Given the description of an element on the screen output the (x, y) to click on. 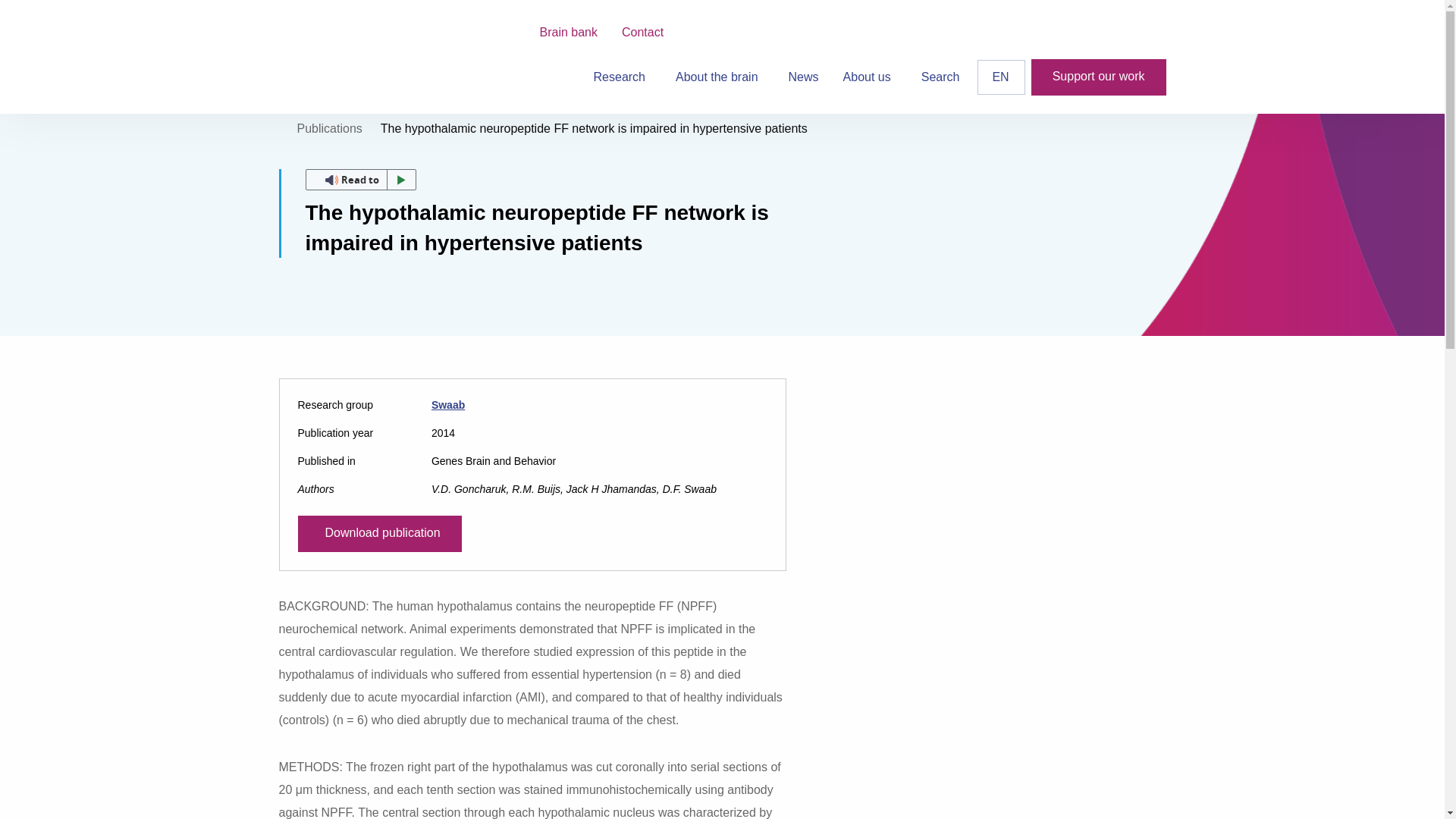
Research (621, 76)
Support our work (1098, 76)
About us (869, 76)
Search (940, 76)
About the brain (719, 76)
Publications (329, 128)
Go to Publications. (329, 128)
EN (1000, 77)
Brain bank (568, 32)
Laat de tekst voorlezen met ReadSpeaker webReader (359, 179)
